Given the description of an element on the screen output the (x, y) to click on. 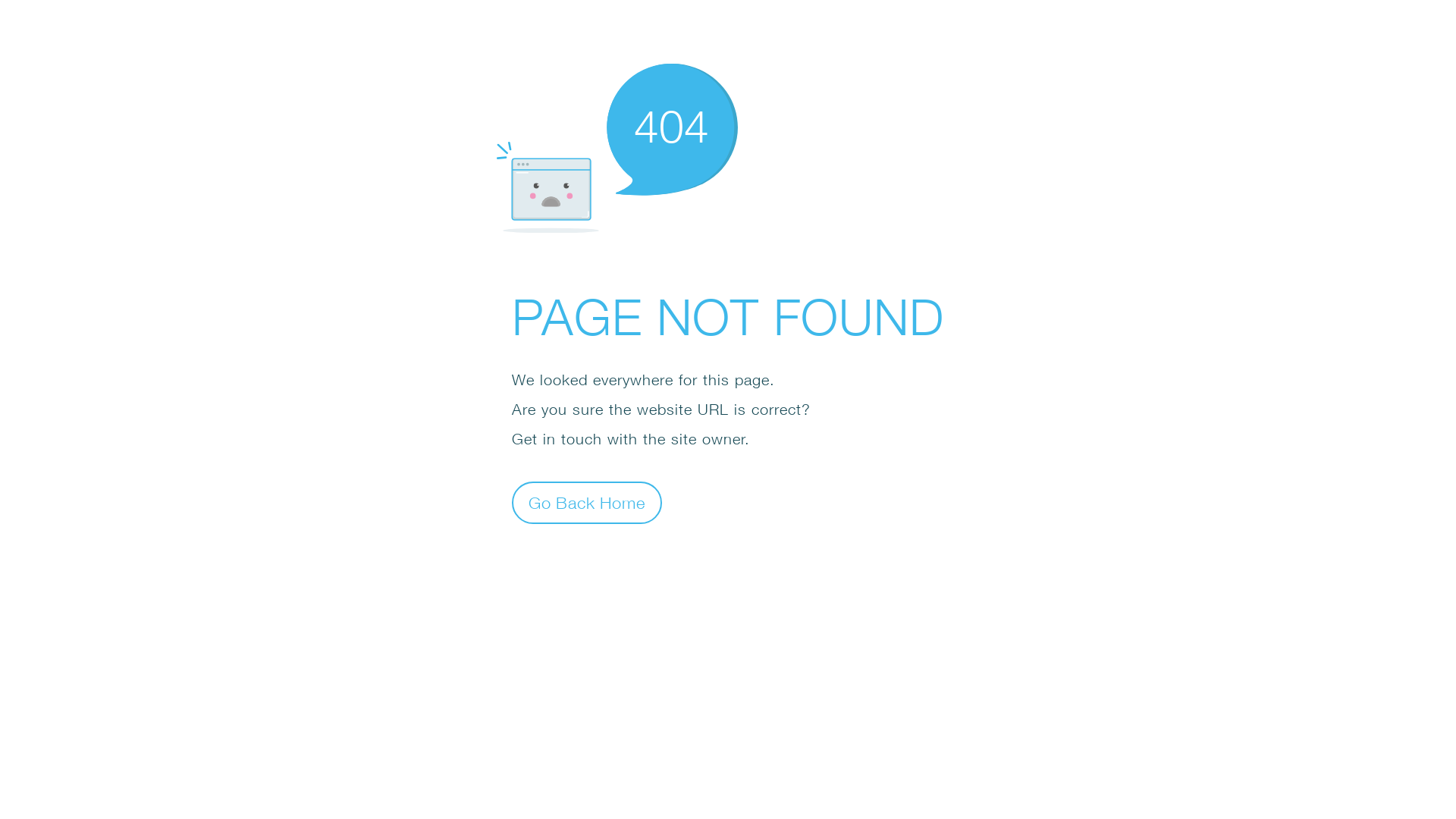
Go Back Home Element type: text (586, 502)
